Given the description of an element on the screen output the (x, y) to click on. 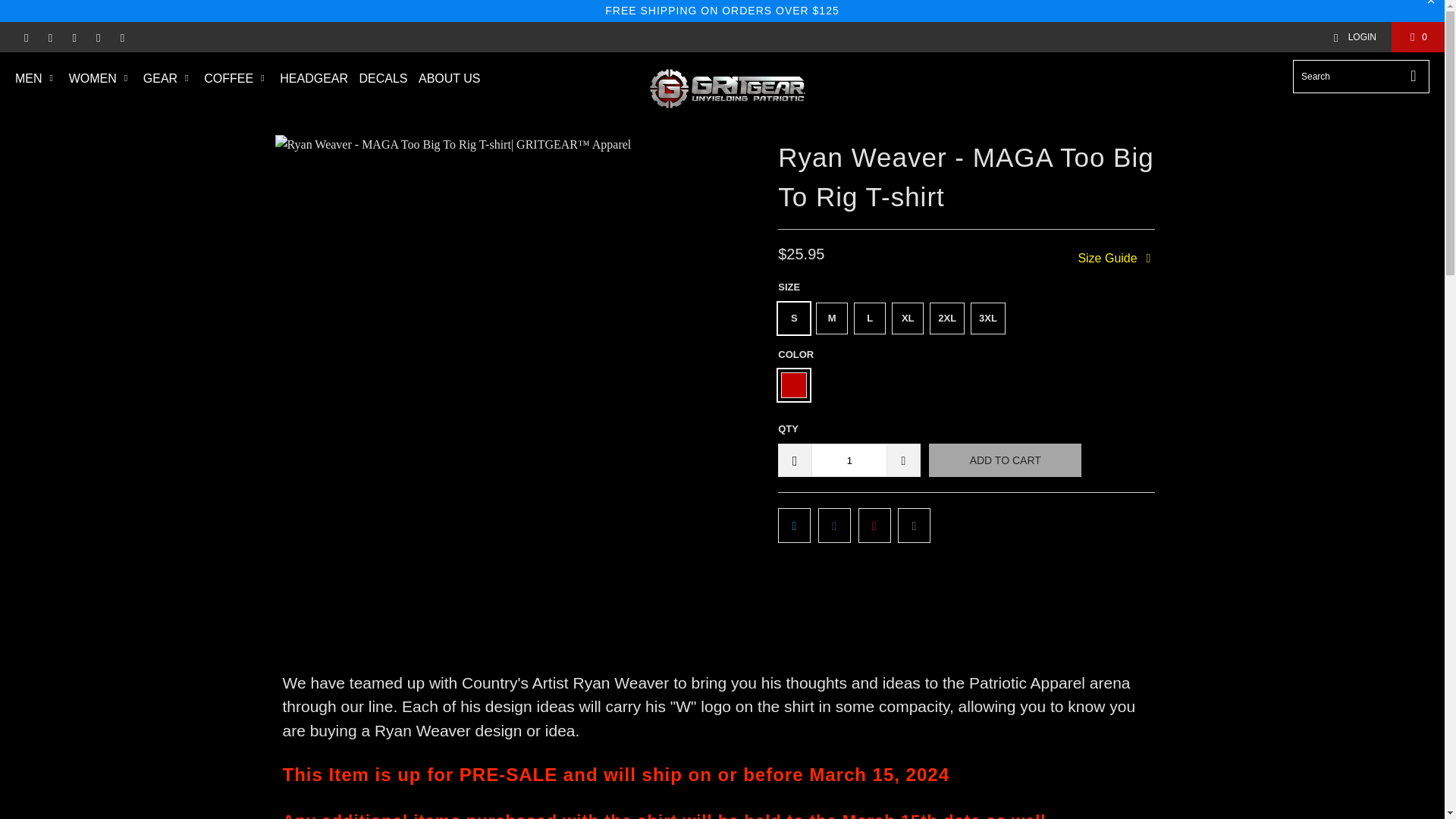
GRITGEAR Apparel (727, 89)
Share this on Facebook (834, 524)
GRITGEAR Apparel on Instagram (121, 36)
GRITGEAR Apparel on Pinterest (96, 36)
1 (848, 459)
GRITGEAR Apparel on Facebook (49, 36)
GRITGEAR Apparel on YouTube (73, 36)
My Account  (1353, 37)
Share this on Pinterest (875, 524)
Email this to a friend (914, 524)
